Given the description of an element on the screen output the (x, y) to click on. 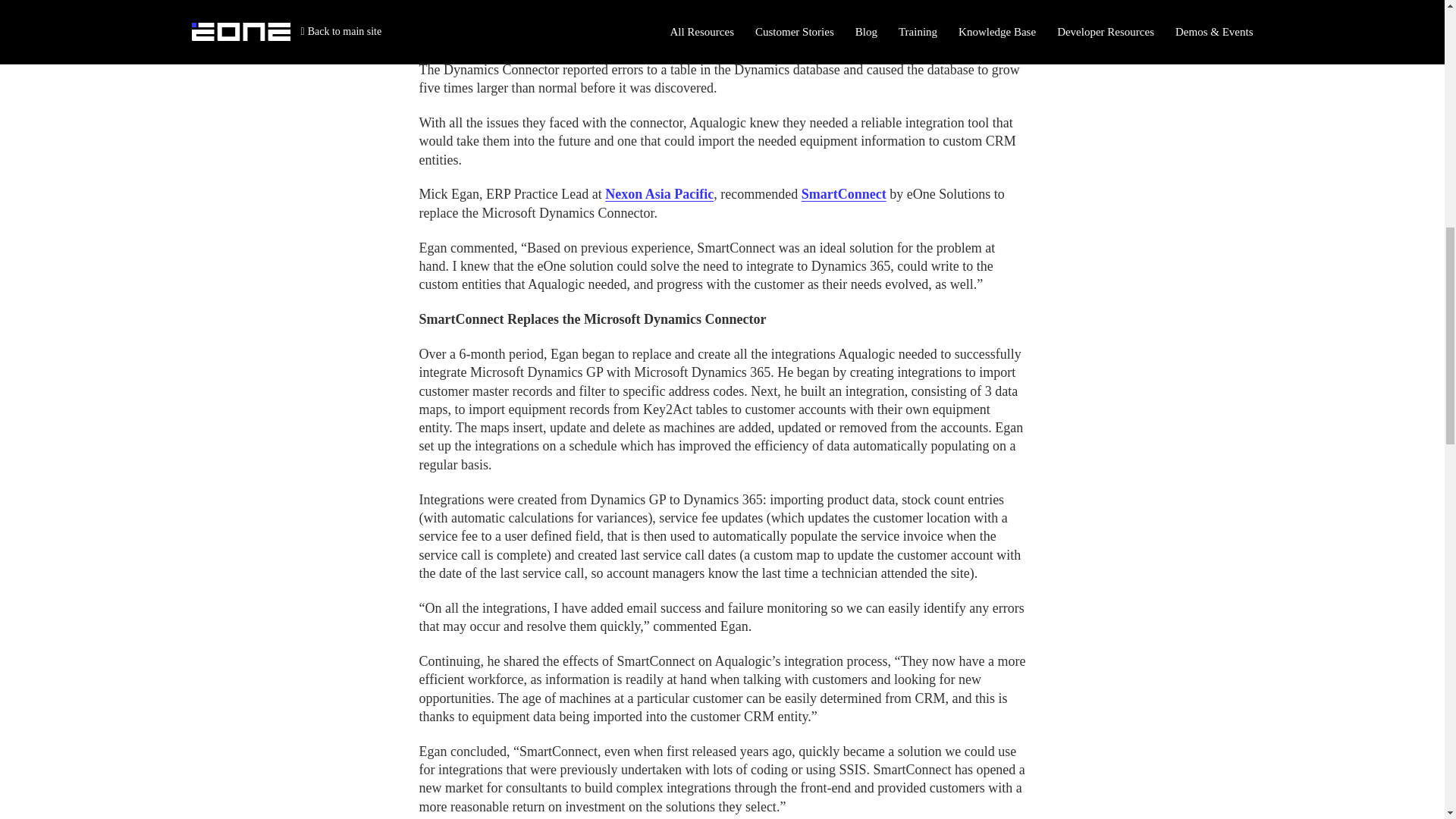
Key2Act (755, 16)
SmartConnect (844, 193)
Nexon Asia Pacific (659, 193)
